Given the description of an element on the screen output the (x, y) to click on. 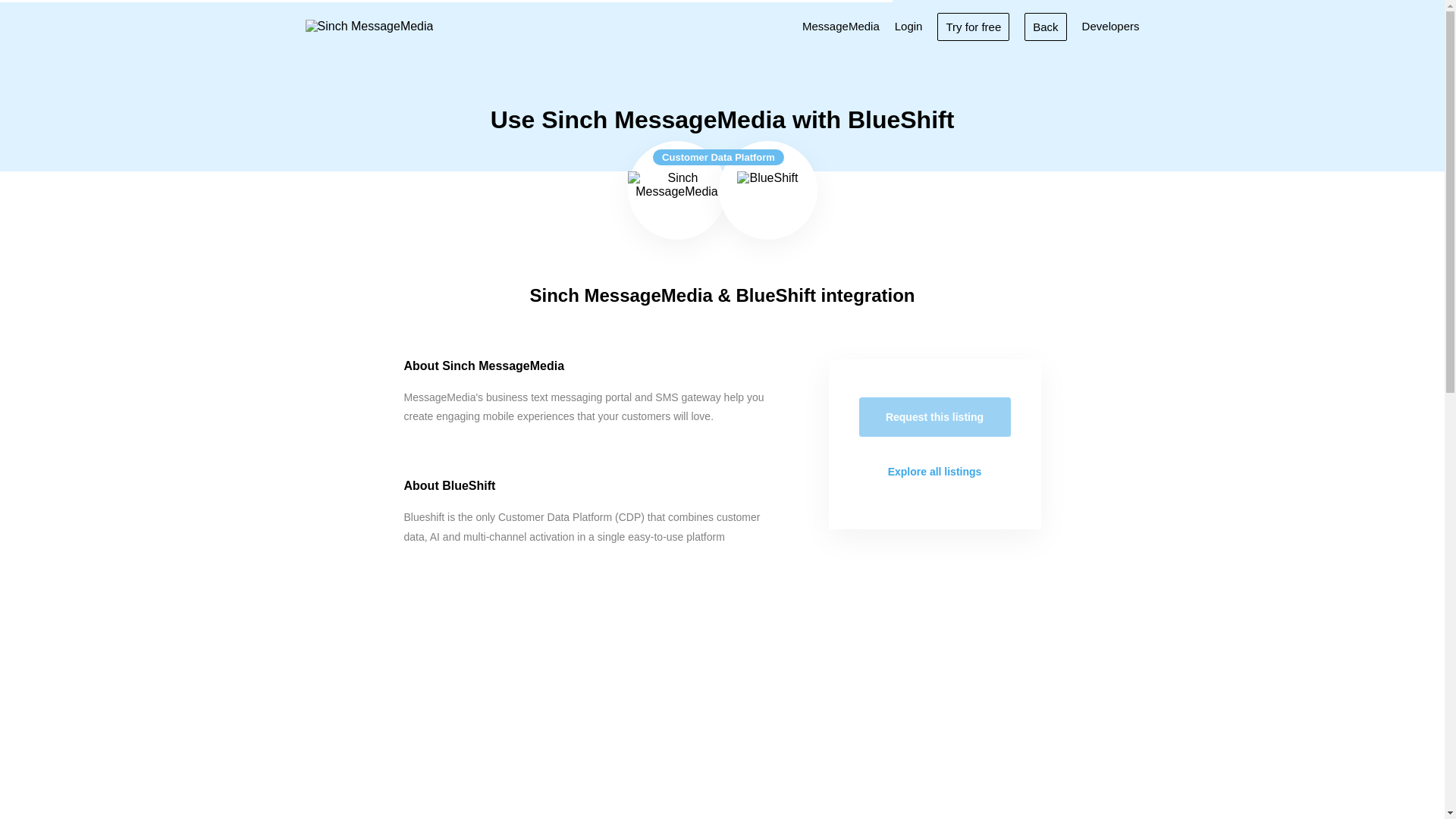
Sinch MessageMedia (676, 190)
Sinch MessageMedia (368, 26)
Try for free (973, 26)
Login (909, 25)
Request this listing (934, 416)
Back (1045, 26)
BlueShift (766, 190)
Explore all listings (934, 471)
Developers (1110, 25)
MessageMedia (840, 25)
